Given the description of an element on the screen output the (x, y) to click on. 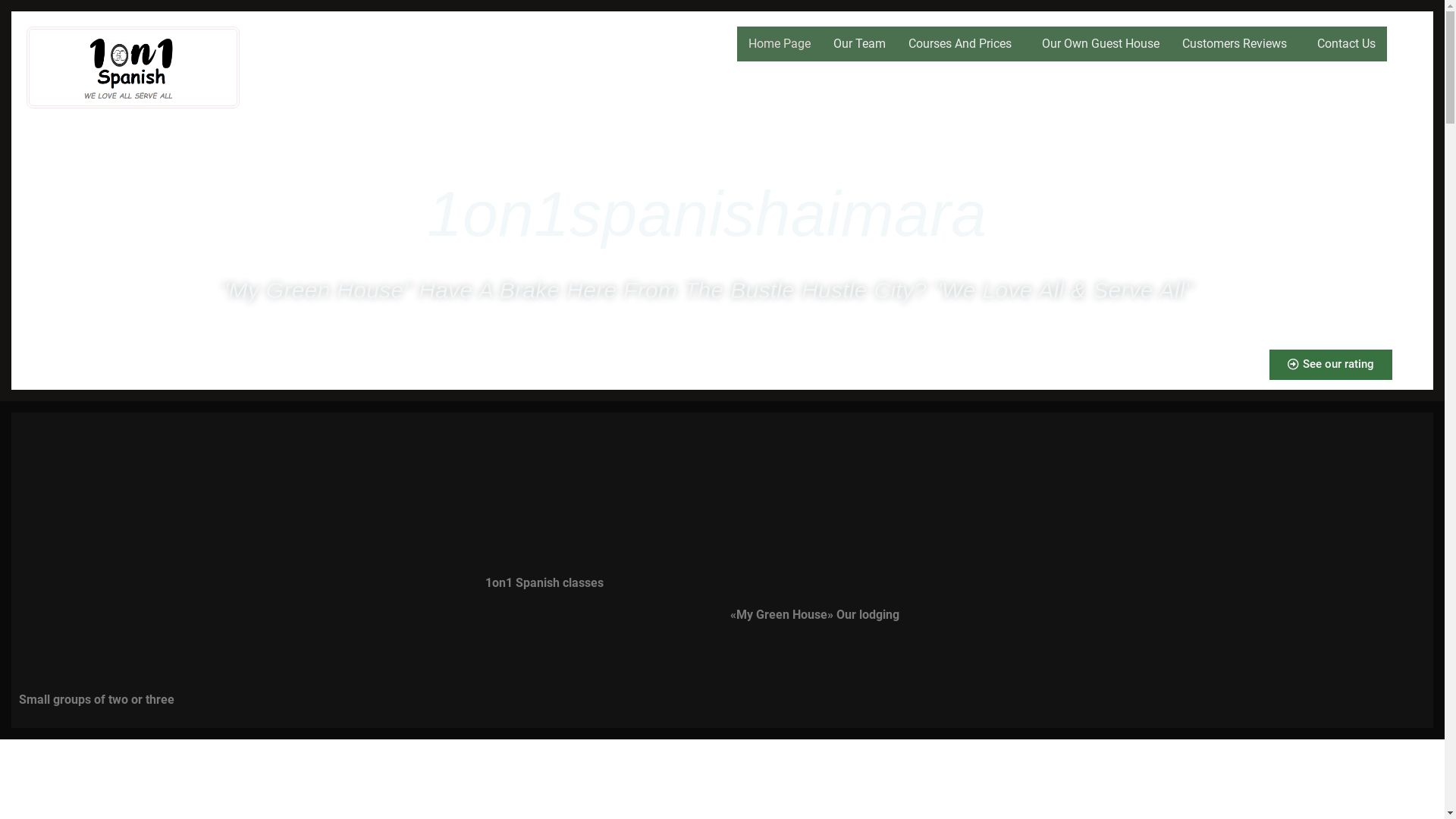
Contact Us Element type: text (1345, 43)
See our rating Element type: text (1330, 364)
Customers Reviews Element type: text (1237, 43)
Our Own Guest House Element type: text (1100, 43)
Our Team Element type: text (859, 43)
Courses And Prices Element type: text (963, 43)
Home Page Element type: text (779, 43)
